Given the description of an element on the screen output the (x, y) to click on. 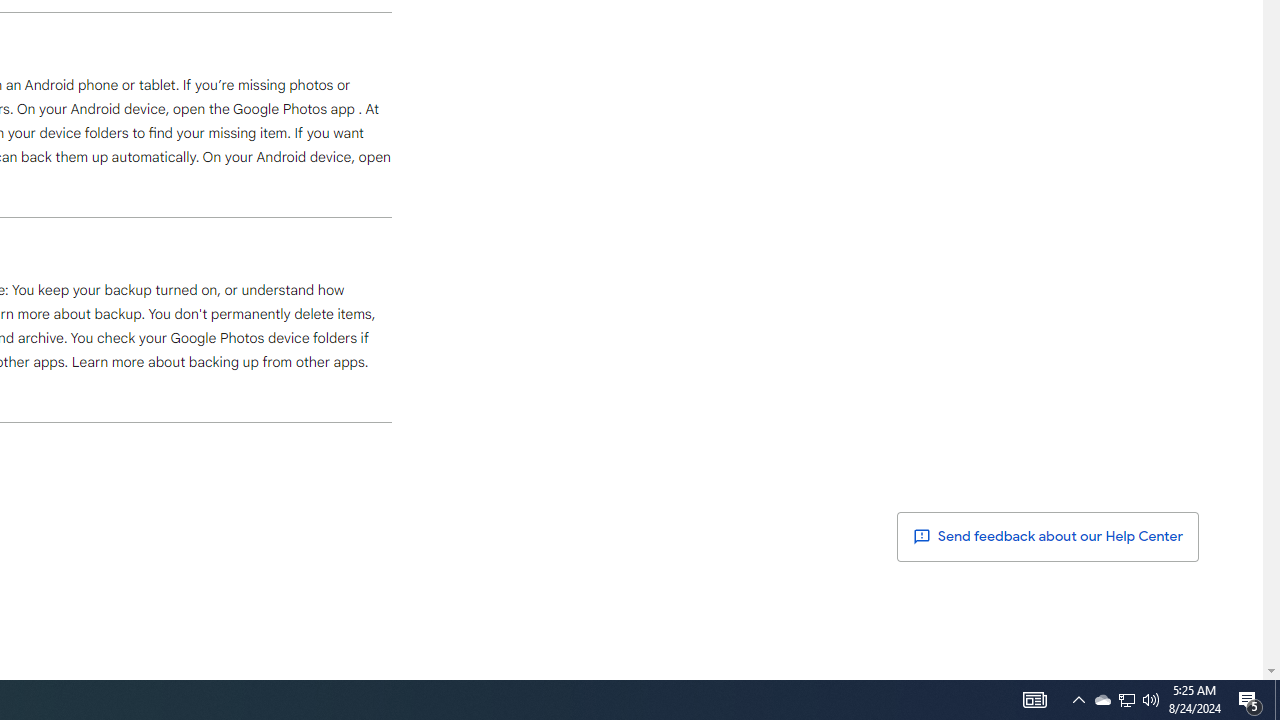
 Send feedback about our Help Center (1048, 536)
